Given the description of an element on the screen output the (x, y) to click on. 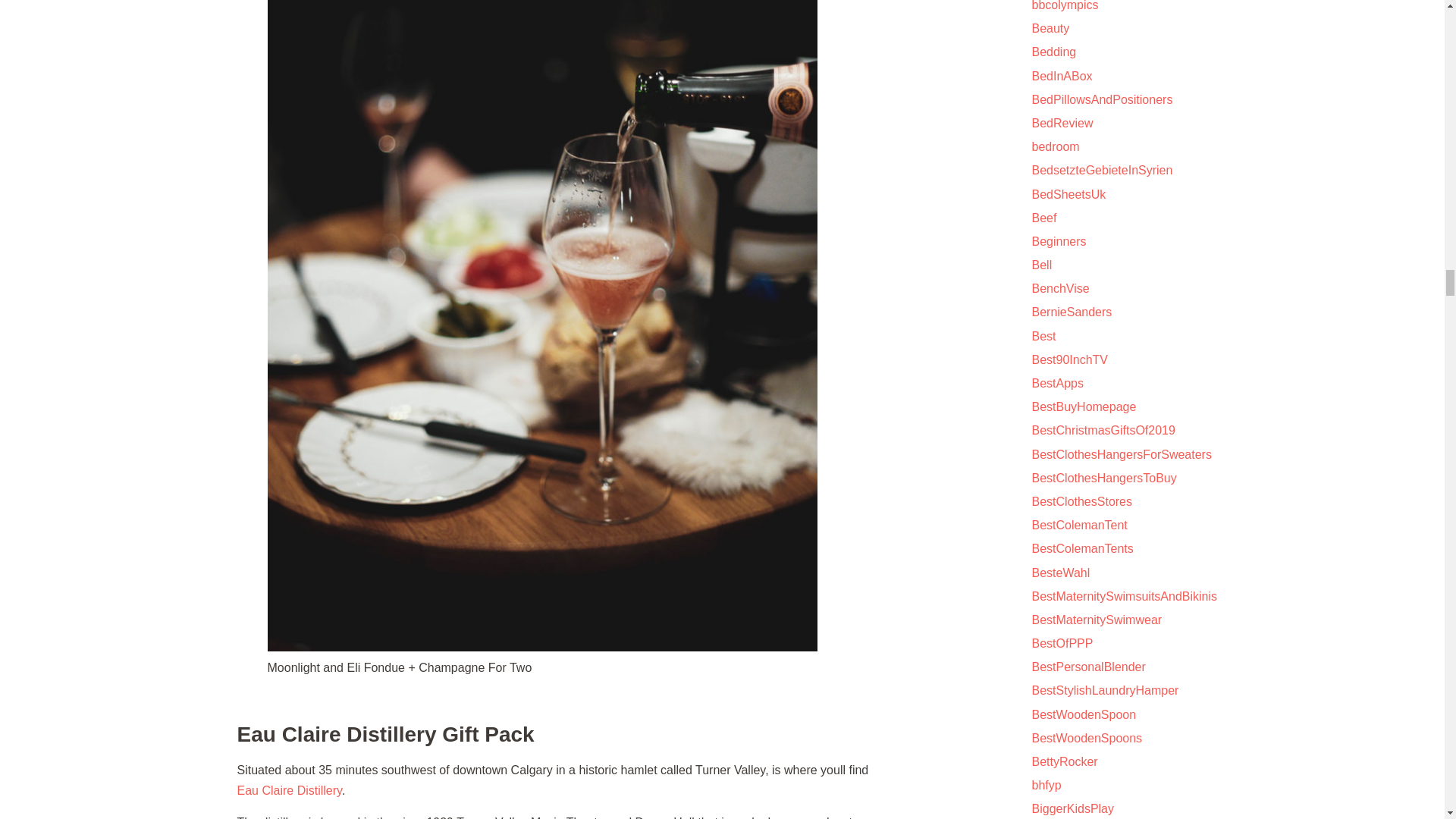
Eau Claire Distillery (287, 789)
